Given the description of an element on the screen output the (x, y) to click on. 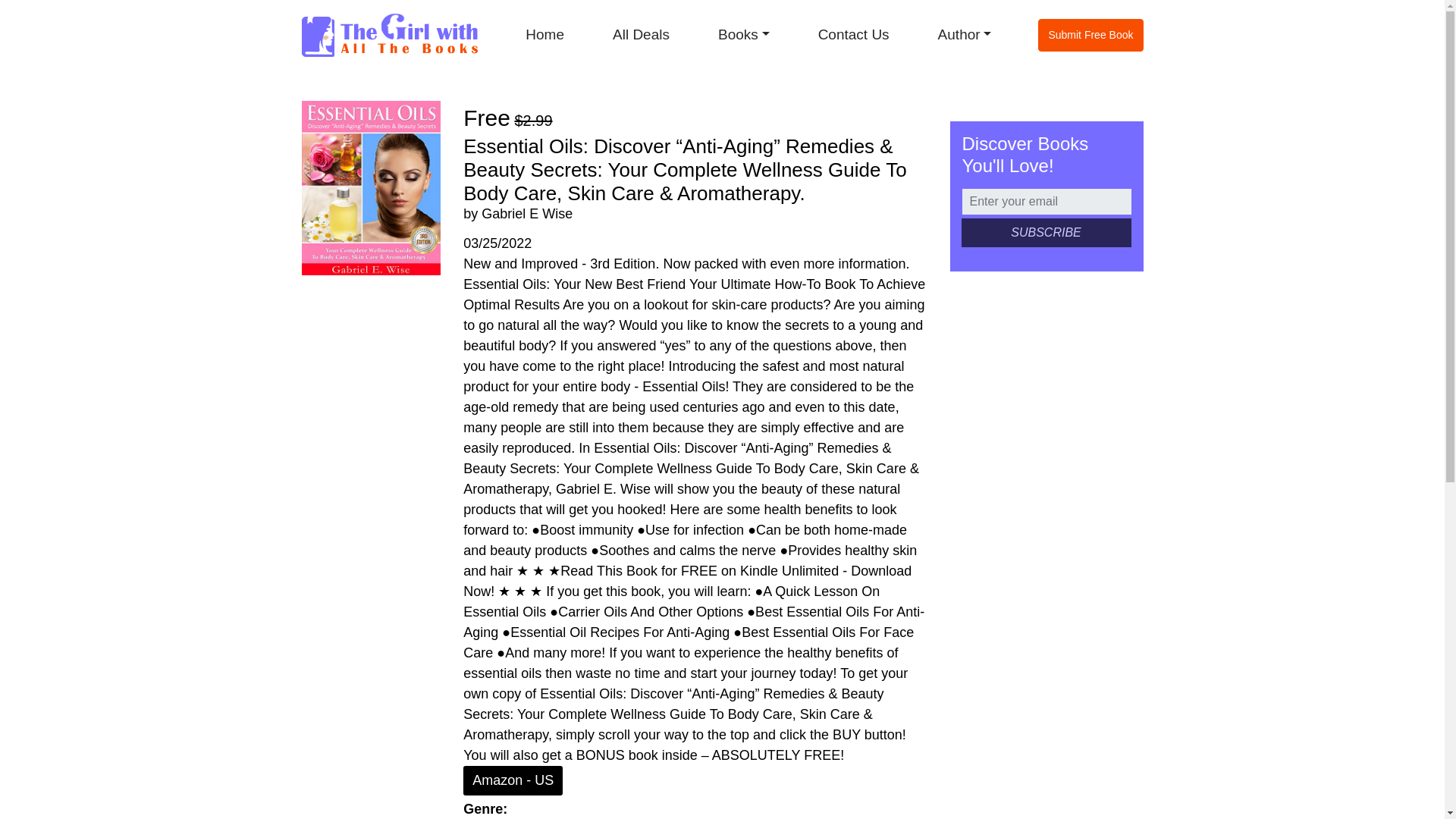
Home (544, 35)
Books (743, 35)
Contact Us (853, 35)
Subscribe (1045, 232)
Subscribe (1045, 232)
Author (965, 35)
Amazon - US (512, 780)
Submit Free Book (1090, 34)
All Deals (640, 35)
